Given the description of an element on the screen output the (x, y) to click on. 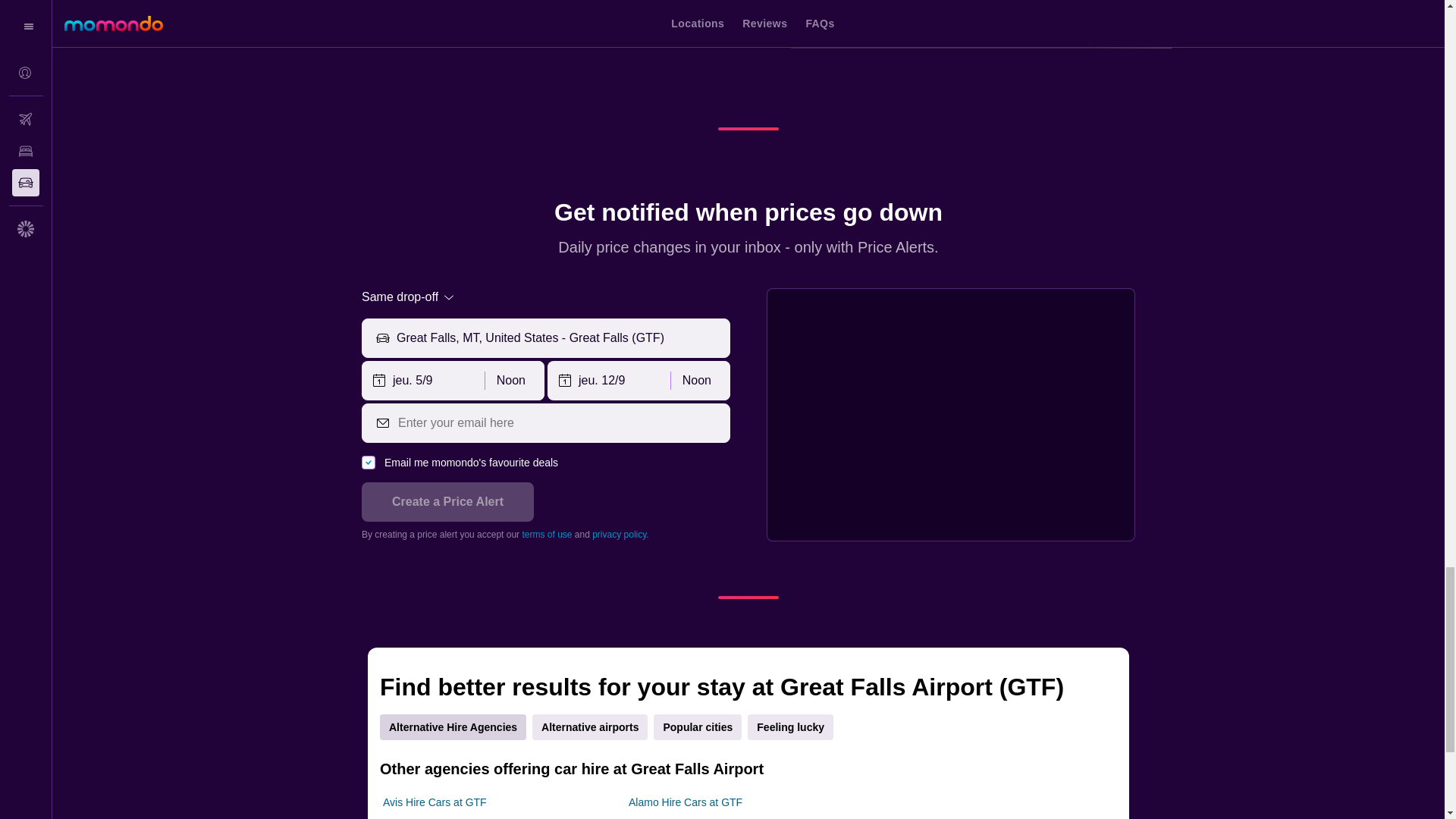
terms of use (546, 534)
Start using Trips (421, 11)
Alternative airports (589, 727)
Alternative Hire Agencies (452, 727)
privacy policy. (619, 534)
Popular cities (697, 727)
Feeling lucky (790, 727)
Avis Hire Cars at GTF (434, 801)
Create a Price Alert (447, 501)
Find my bookings (557, 11)
